Given the description of an element on the screen output the (x, y) to click on. 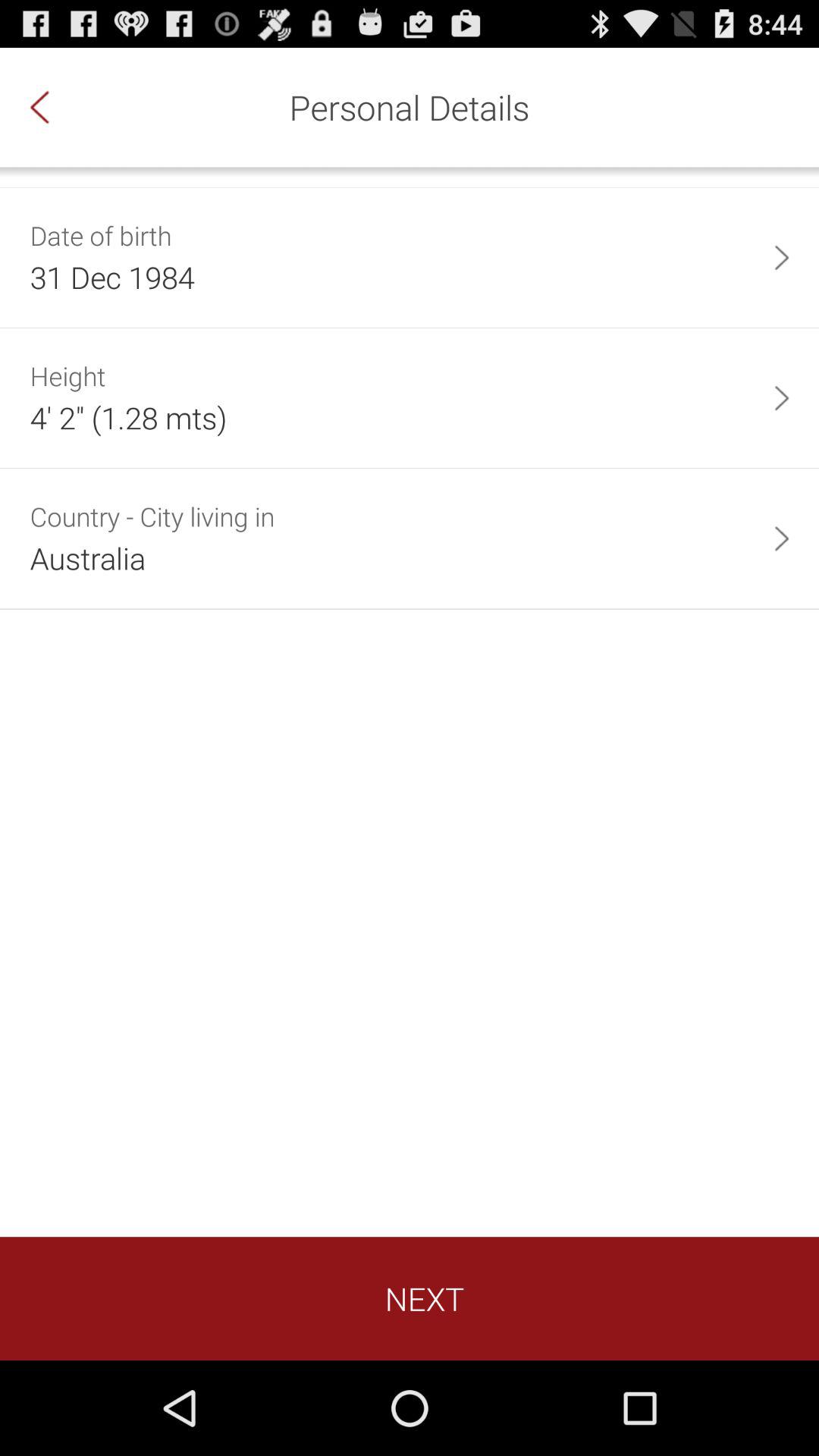
turn off app to the right of country city living item (781, 538)
